Given the description of an element on the screen output the (x, y) to click on. 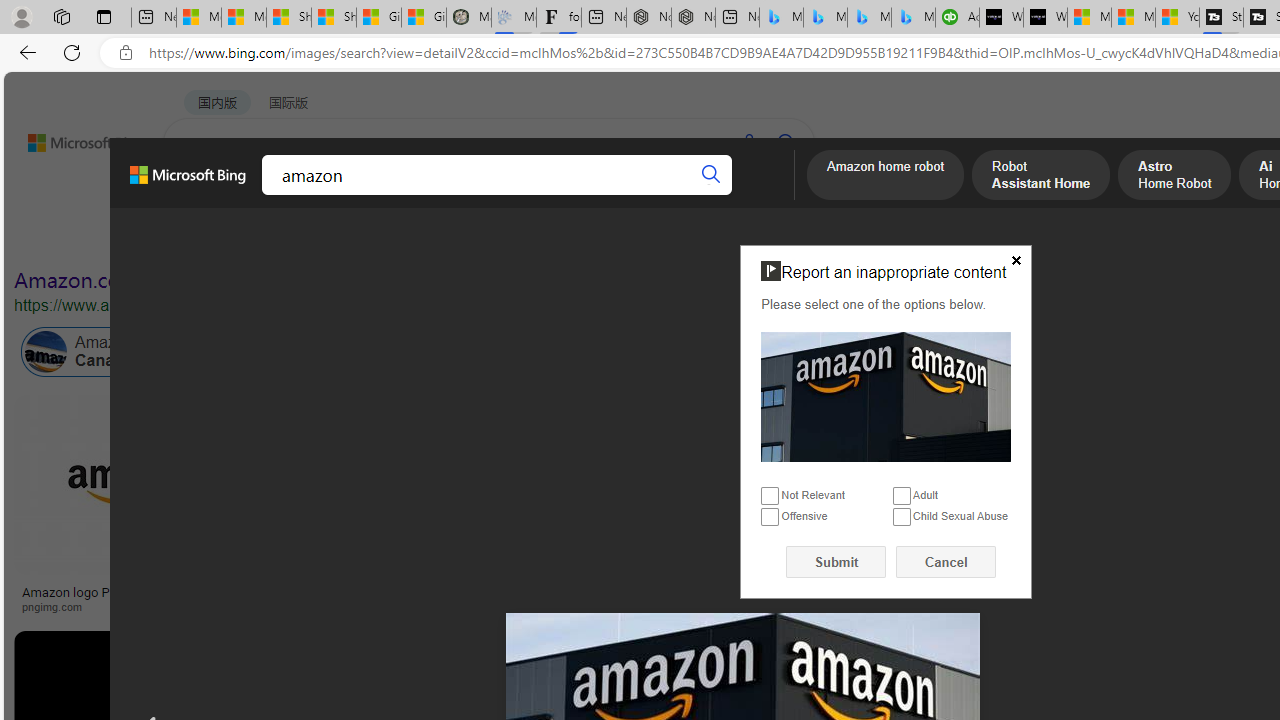
Amazon Animals (706, 351)
MAPS (698, 195)
Streaming Coverage | T3 (1220, 17)
Date (591, 237)
Back to Bing search (73, 138)
ACADEMIC (548, 195)
Listen: What's next for Amazon? (710, 592)
Dropdown Menu (779, 195)
Amazon Animals (749, 351)
Amazon Cloud (606, 351)
Date (591, 237)
